Given the description of an element on the screen output the (x, y) to click on. 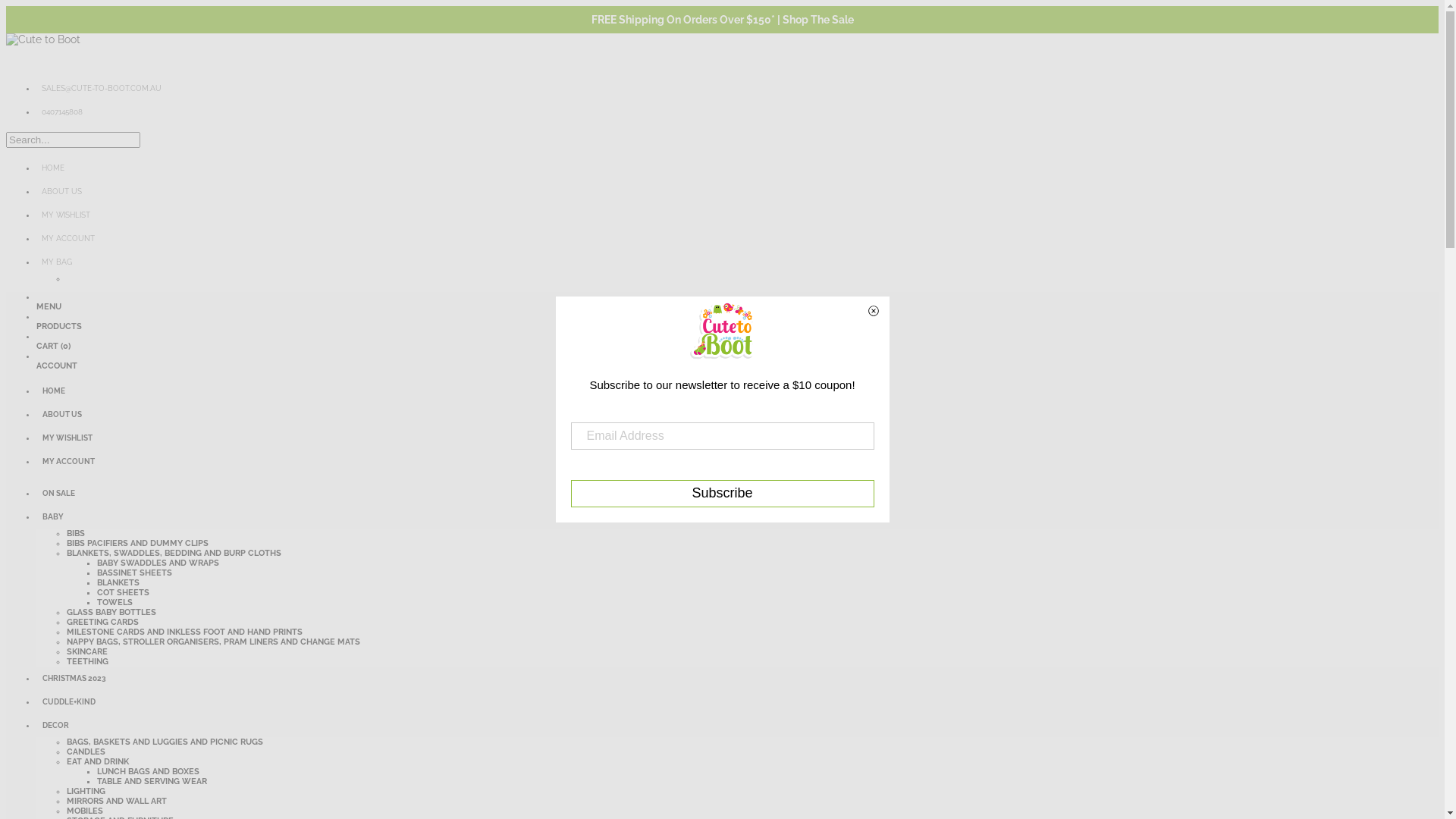
ABOUT US Element type: text (737, 191)
COT SHEETS Element type: text (123, 592)
GLASS BABY BOTTLES Element type: text (111, 612)
MY ACCOUNT Element type: text (737, 238)
Cute to Boot Element type: hover (43, 39)
LIGHTING Element type: text (85, 791)
MY BAG Element type: text (737, 261)
TOWELS Element type: text (114, 602)
SKINCARE Element type: text (86, 651)
MOBILES Element type: text (84, 810)
CART (0) Element type: text (53, 350)
0407145808 Element type: text (737, 111)
MILESTONE CARDS AND INKLESS FOOT AND HAND PRINTS Element type: text (184, 632)
TABLE AND SERVING WEAR Element type: text (152, 781)
NAPPY BAGS, STROLLER ORGANISERS, PRAM LINERS AND CHANGE MATS Element type: text (213, 641)
BIBS PACIFIERS AND DUMMY CLIPS Element type: text (137, 543)
LUNCH BAGS AND BOXES Element type: text (148, 771)
ACCOUNT Element type: text (56, 370)
BABY SWADDLES AND WRAPS Element type: text (158, 562)
MY ACCOUNT Element type: text (737, 461)
HOME Element type: text (737, 390)
PRODUCTS Element type: text (58, 331)
GREETING CARDS Element type: text (102, 622)
SALES@CUTE-TO-BOOT.COM.AU Element type: text (737, 88)
BASSINET SHEETS Element type: text (134, 572)
Shop The Sale Element type: text (817, 19)
ON SALE Element type: text (737, 493)
Search Element type: text (125, 142)
BAGS, BASKETS AND LUGGIES AND PICNIC RUGS Element type: text (164, 741)
EAT AND DRINK Element type: text (97, 761)
TEETHING Element type: text (87, 661)
DECOR Element type: text (737, 725)
FREE Shipping On Orders Over $150* Element type: text (683, 19)
MENU Element type: text (48, 311)
CUDDLE+KIND Element type: text (737, 701)
MY WISHLIST Element type: text (737, 437)
BABY Element type: text (737, 516)
CHRISTMAS 2023 Element type: text (737, 678)
BLANKETS, SWADDLES, BEDDING AND BURP CLOTHS Element type: text (173, 553)
ABOUT US Element type: text (737, 414)
CANDLES Element type: text (85, 751)
BLANKETS Element type: text (118, 582)
BIBS Element type: text (75, 533)
HOME Element type: text (737, 167)
MY WISHLIST Element type: text (737, 214)
MIRRORS AND WALL ART Element type: text (116, 801)
